Given the description of an element on the screen output the (x, y) to click on. 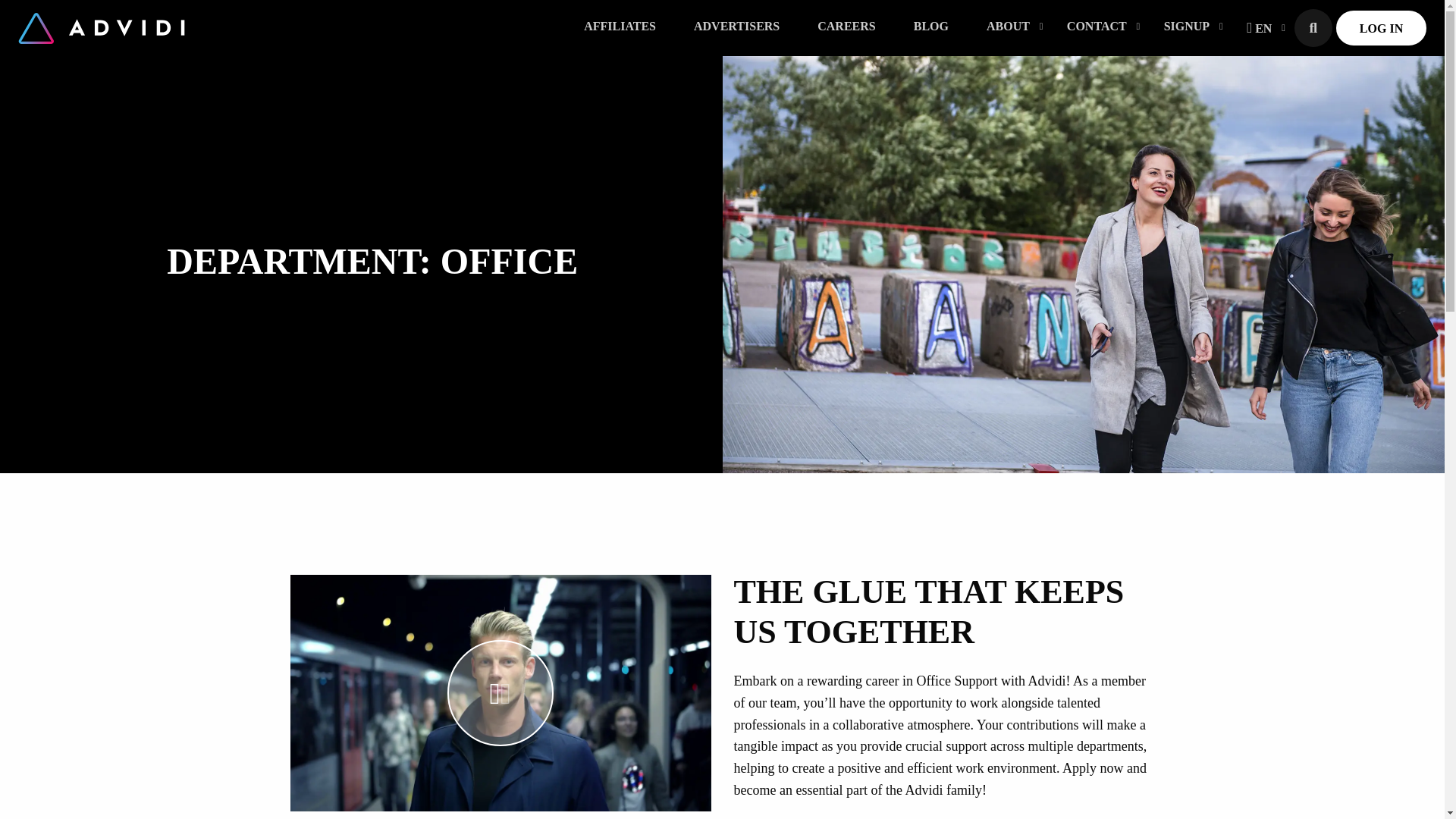
AFFILIATES (619, 26)
Advidi (100, 27)
ABOUT (1008, 26)
BLOG (931, 26)
SIGNUP (1185, 26)
LOG IN (1381, 27)
EN (1258, 27)
CAREERS (845, 26)
PLAY VIDEO (499, 692)
CONTACT (1096, 26)
ADVERTISERS (736, 26)
